Given the description of an element on the screen output the (x, y) to click on. 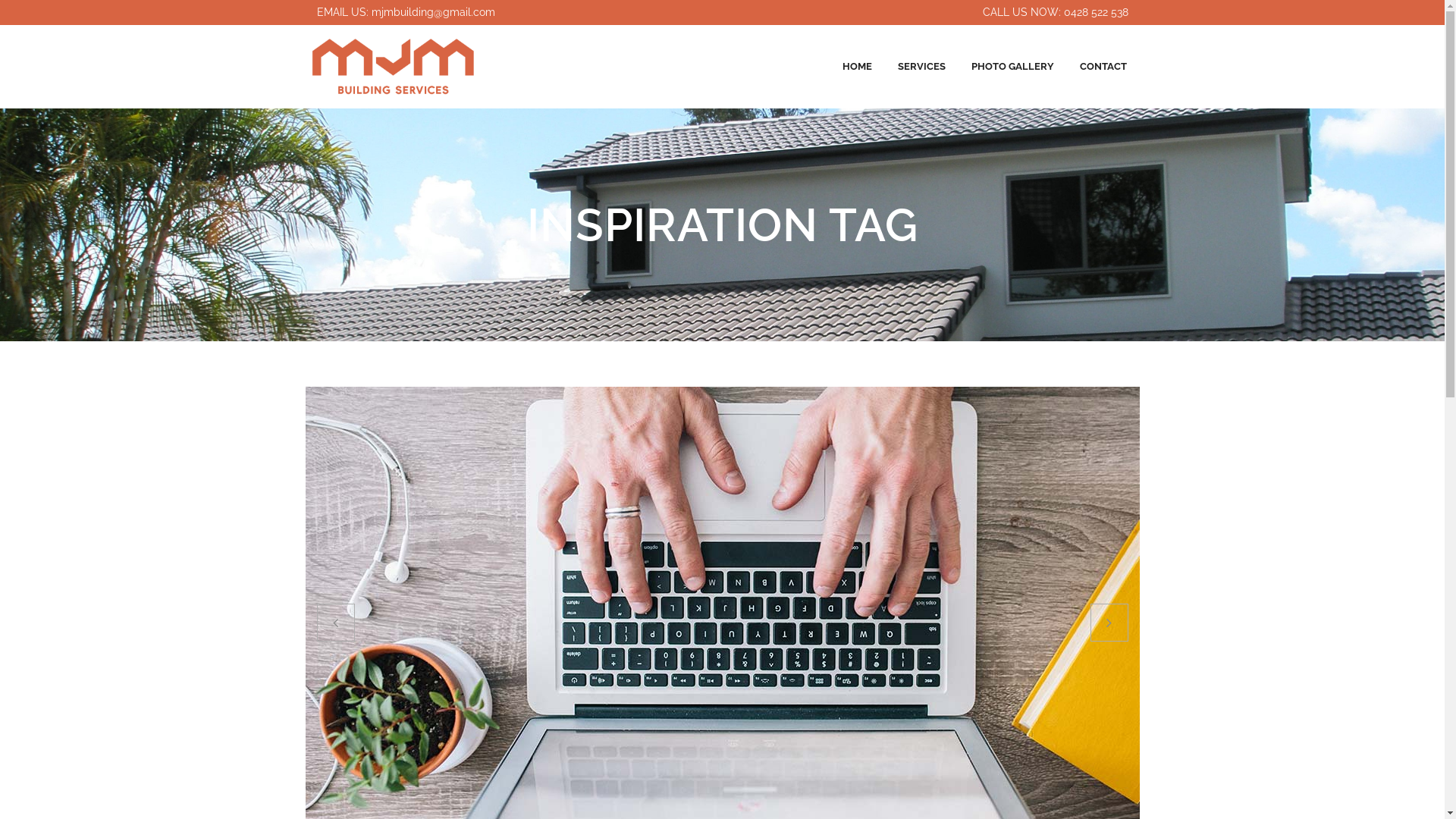
CONTACT Element type: text (1102, 66)
mjmbuilding@gmail.com Element type: text (433, 12)
SERVICES Element type: text (920, 66)
PHOTO GALLERY Element type: text (1012, 66)
HOME Element type: text (856, 66)
0428 522 538 Element type: text (1095, 12)
